Given the description of an element on the screen output the (x, y) to click on. 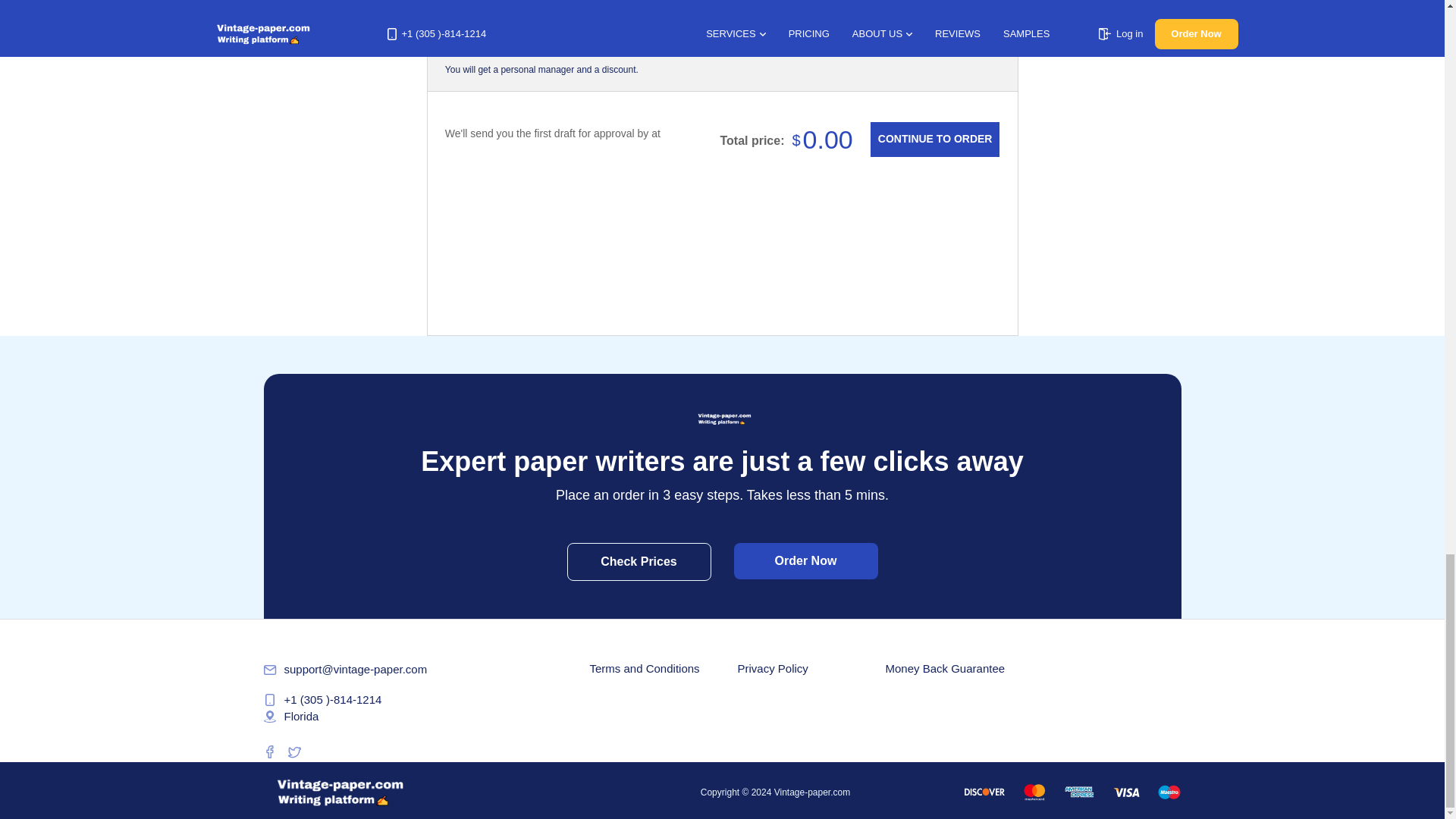
Increase (983, 40)
1 (943, 40)
Terms and Conditions (644, 667)
Check Prices (639, 561)
Decrease (902, 40)
Money Back Guarantee (945, 667)
Continue to order (934, 139)
Continue to Order (934, 139)
Privacy Policy (772, 667)
Order Now (805, 560)
Continue to order (934, 139)
Florida (290, 716)
